Given the description of an element on the screen output the (x, y) to click on. 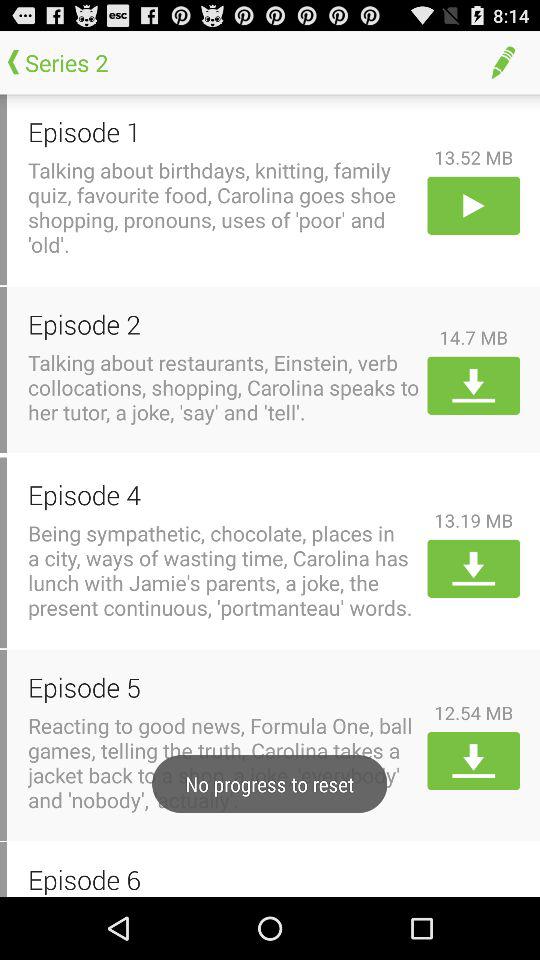
select reacting to good (224, 762)
